Given the description of an element on the screen output the (x, y) to click on. 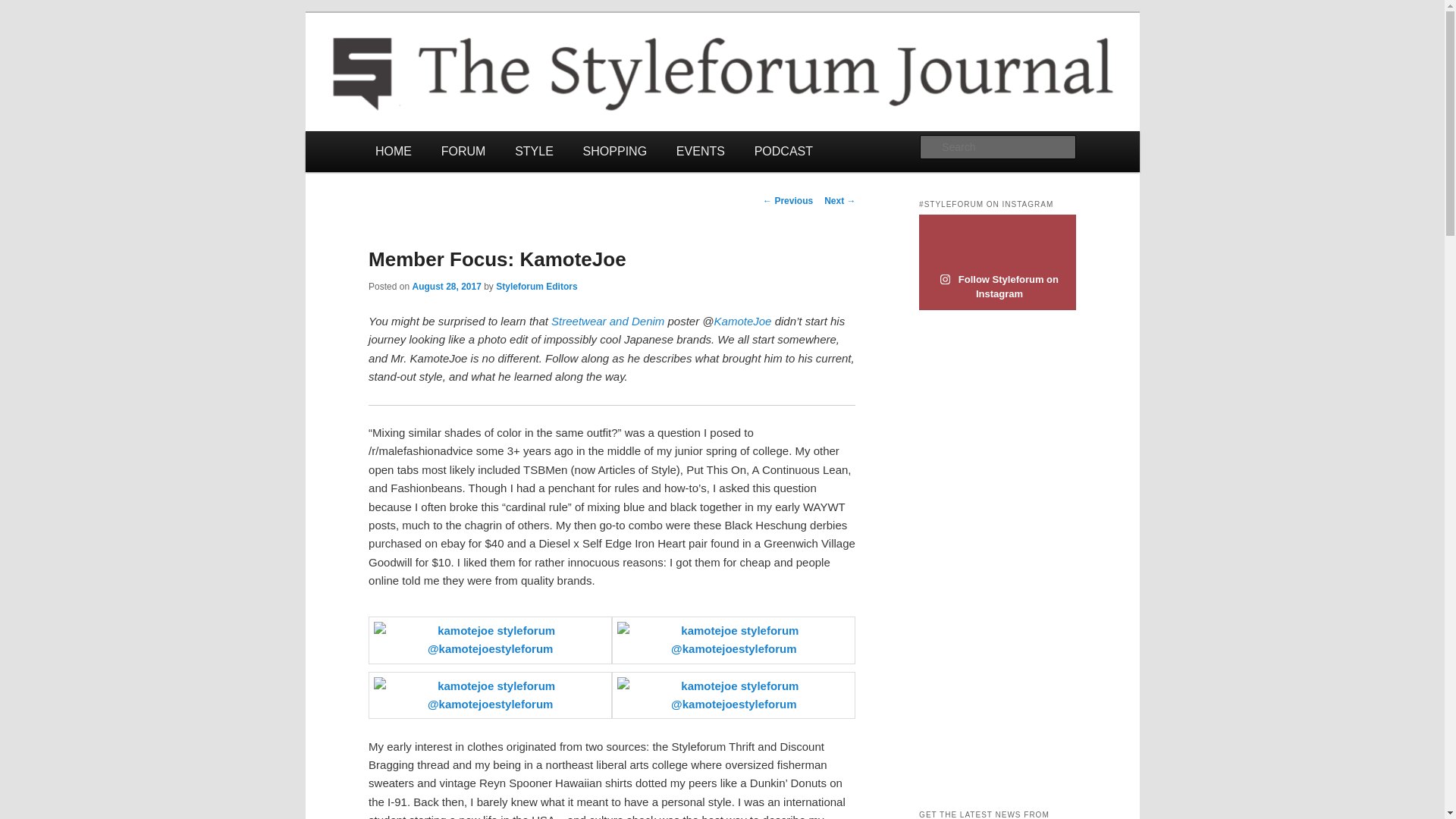
August 28, 2017 (446, 286)
PODCAST (783, 151)
The Styleforum Journal (495, 67)
EVENTS (700, 151)
View all posts by Styleforum Editors (536, 286)
Styleforum Editors (536, 286)
STYLE (533, 151)
FORUM (462, 151)
Search (24, 8)
3:00 am (446, 286)
Streetwear and Denim (608, 320)
KamoteJoe (742, 320)
HOME (393, 151)
SHOPPING (614, 151)
